Given the description of an element on the screen output the (x, y) to click on. 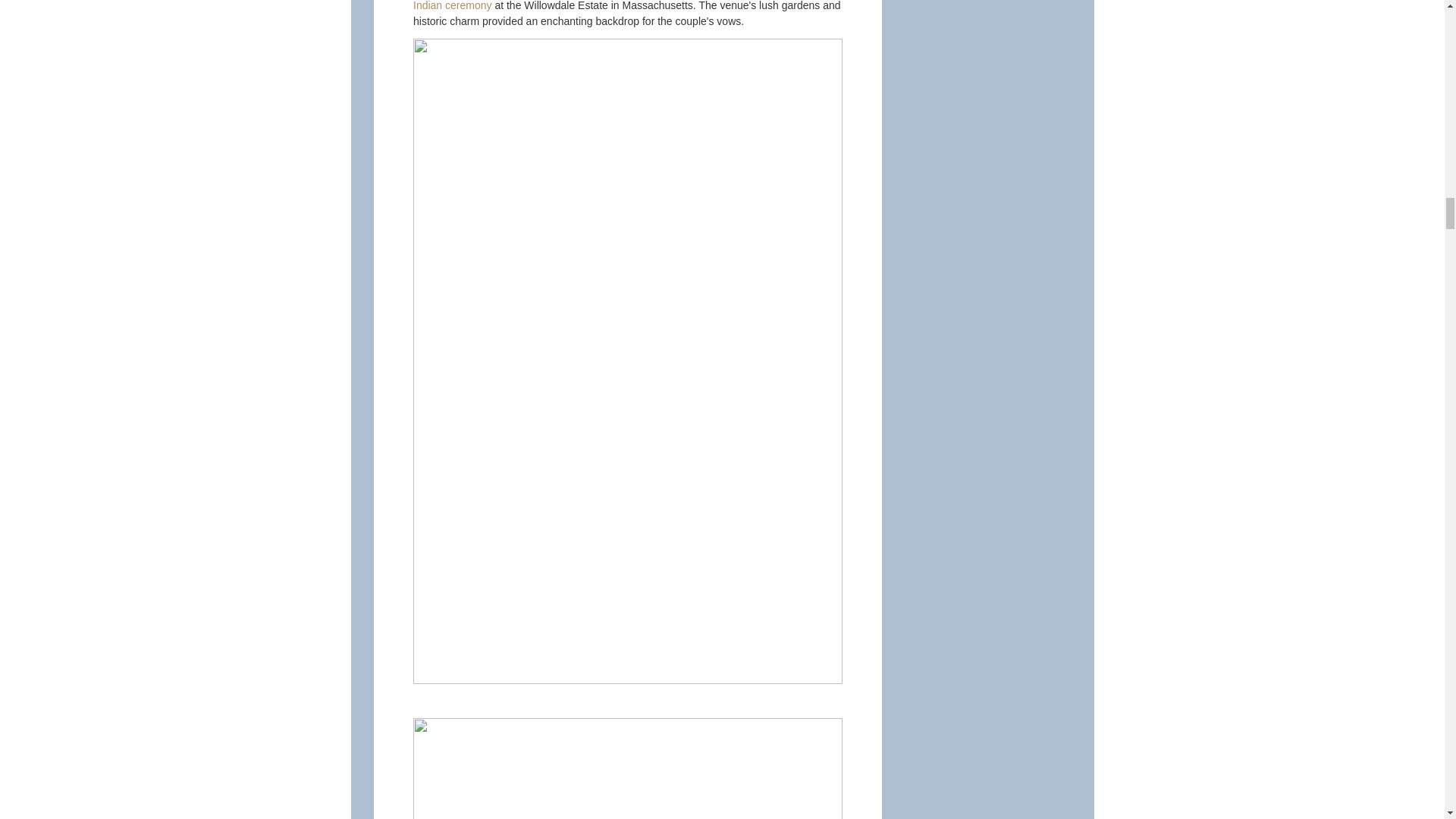
South Indian ceremony (623, 5)
